Given the description of an element on the screen output the (x, y) to click on. 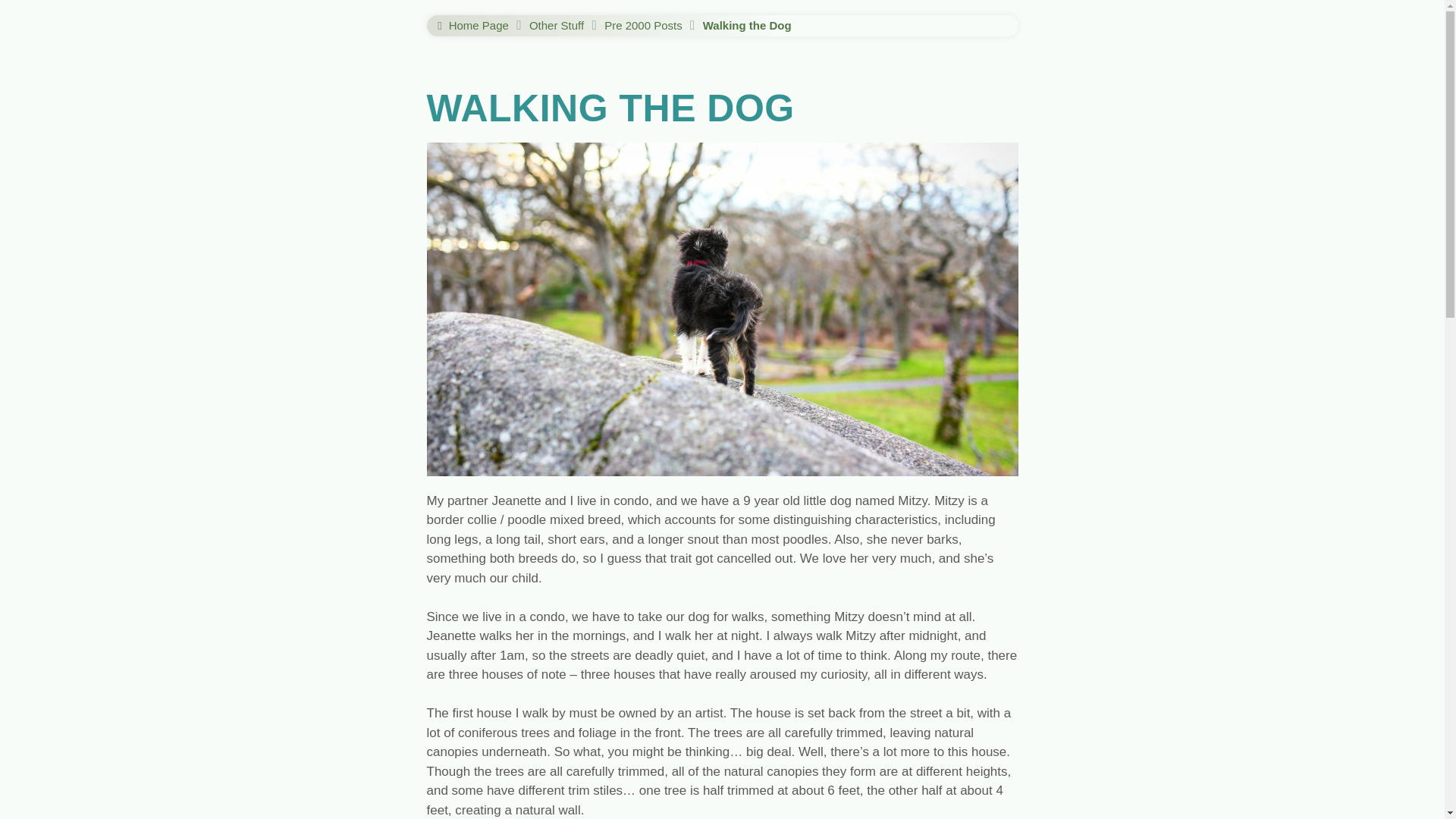
Home Page (470, 25)
Other Stuff (556, 25)
Walking the Dog (747, 25)
 Home Page (470, 25)
Other Stuff (556, 25)
Pre 2000 Posts (643, 25)
Pre 2000 Posts (643, 25)
